Given the description of an element on the screen output the (x, y) to click on. 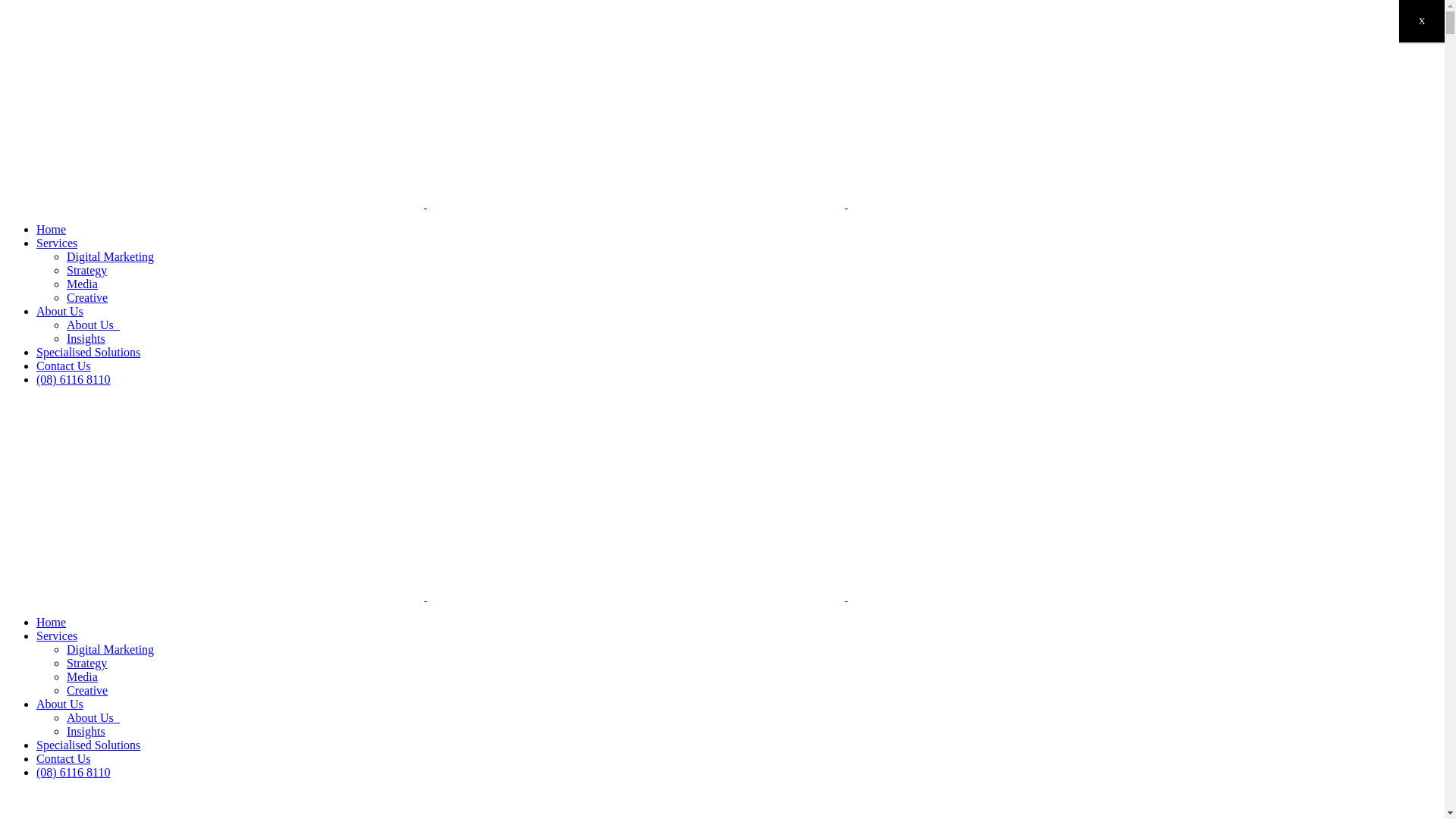
Creative Element type: text (86, 297)
About Us_ Element type: text (92, 717)
X Element type: text (1421, 21)
Media Element type: text (81, 283)
Services Element type: text (56, 242)
About Us Element type: text (59, 310)
Specialised Solutions Element type: text (88, 351)
Specialised Solutions Element type: text (88, 744)
Insights Element type: text (85, 338)
Contact Us Element type: text (63, 365)
(08) 6116 8110 Element type: text (72, 771)
(08) 6116 8110 Element type: text (72, 379)
About Us_ Element type: text (92, 324)
Insights Element type: text (85, 730)
Strategy Element type: text (86, 662)
Contact Us Element type: text (63, 758)
Services Element type: text (56, 635)
Digital Marketing Element type: text (109, 649)
Strategy Element type: text (86, 269)
Home Element type: text (50, 228)
Media Element type: text (81, 676)
Home Element type: text (50, 621)
About Us Element type: text (59, 703)
Digital Marketing Element type: text (109, 256)
Creative Element type: text (86, 690)
